Given the description of an element on the screen output the (x, y) to click on. 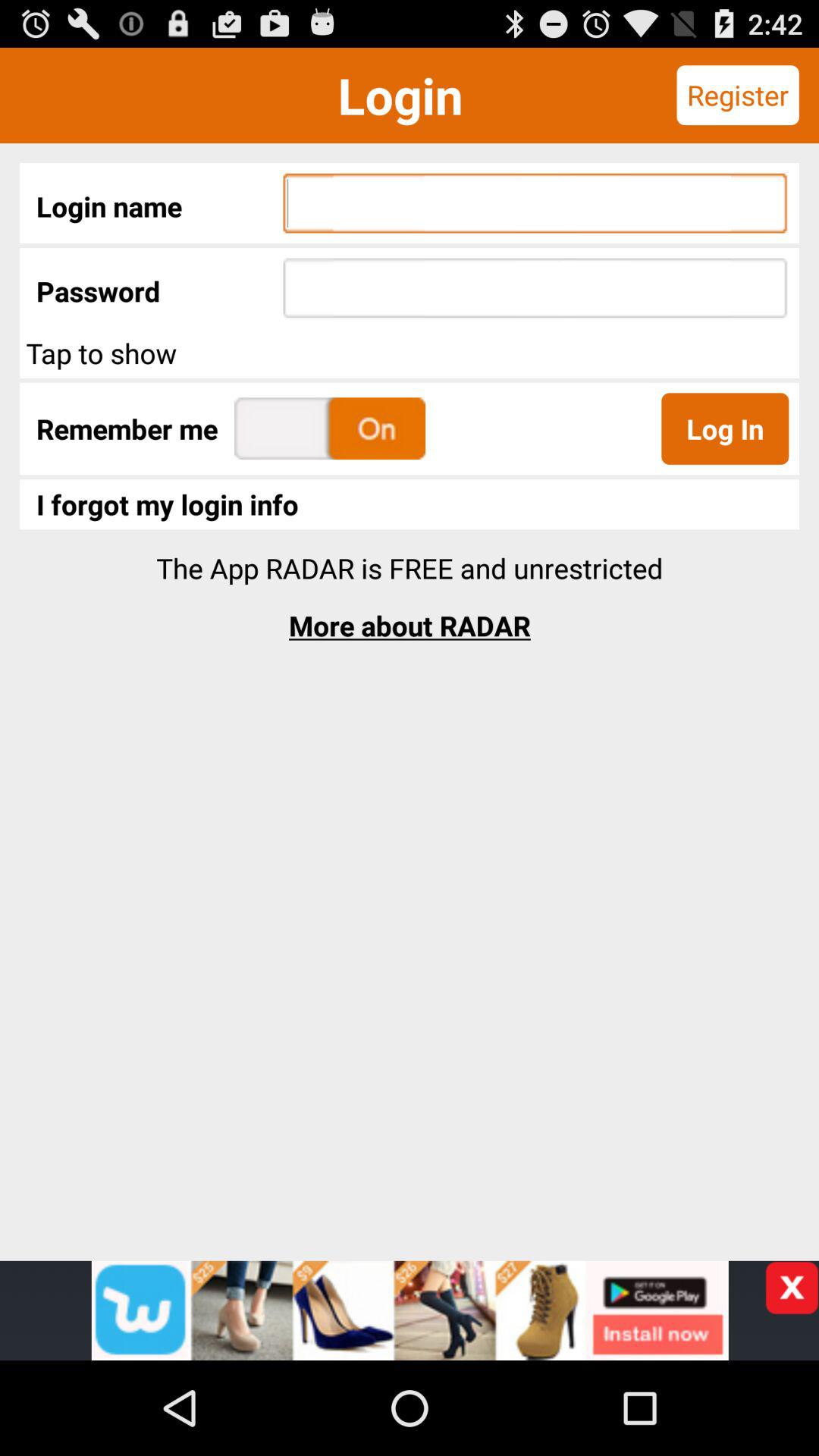
close this advertisement (791, 1287)
